Given the description of an element on the screen output the (x, y) to click on. 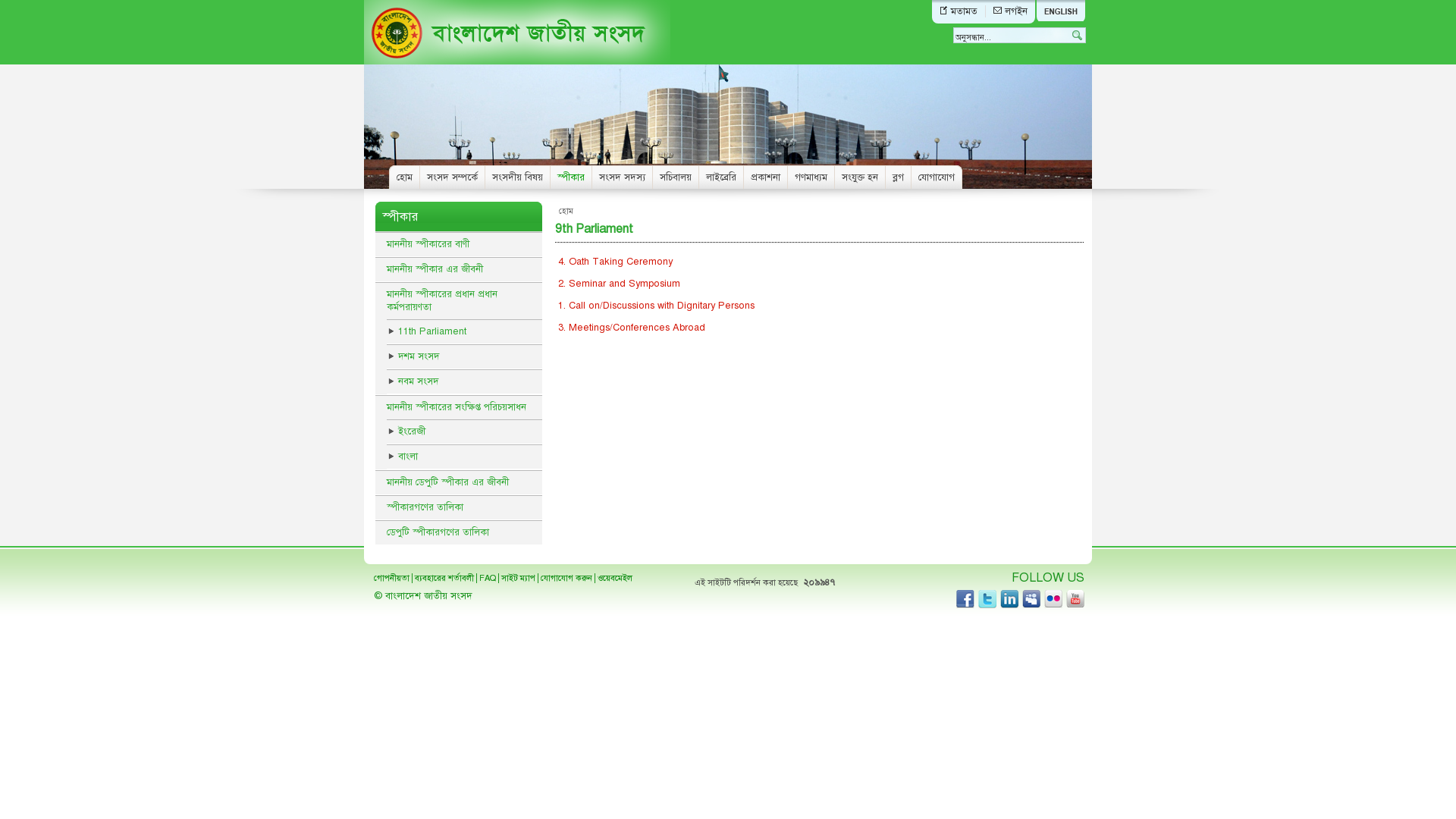
English (UK) Element type: hover (1059, 11)
Submit to LinkedIn Element type: hover (1009, 598)
2. Seminar and Symposium Element type: text (656, 283)
1. Call on/Discussions with Dignitary Persons Element type: text (656, 305)
Submit to YouTube Element type: hover (1075, 598)
FAQ Element type: text (487, 578)
3. Meetings/Conferences Abroad Element type: text (656, 327)
Submit to MySpace Element type: hover (1031, 598)
Submit to Twitter Element type: hover (987, 598)
4. Oath Taking Ceremony Element type: text (656, 261)
Submit to Twitter Element type: hover (1053, 598)
11th Parliament Element type: text (464, 331)
Submit to Facebook Element type: hover (965, 598)
